Given the description of an element on the screen output the (x, y) to click on. 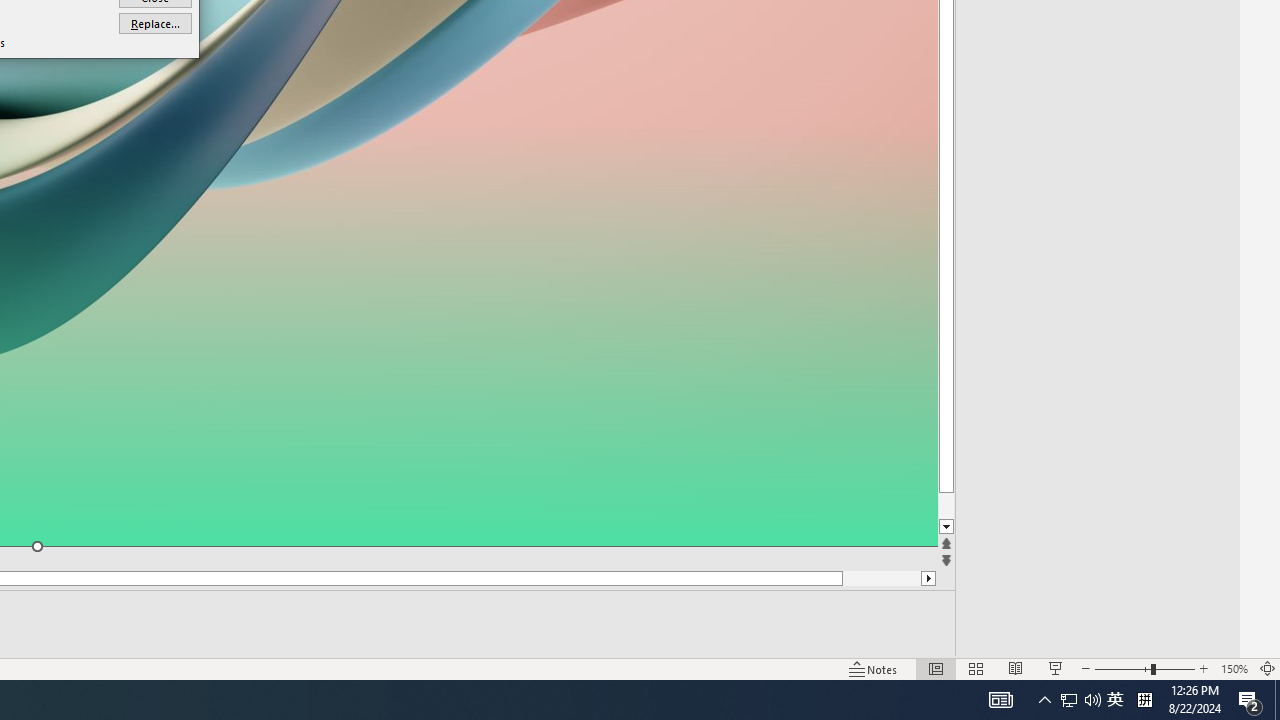
Zoom 150% (1234, 668)
